Given the description of an element on the screen output the (x, y) to click on. 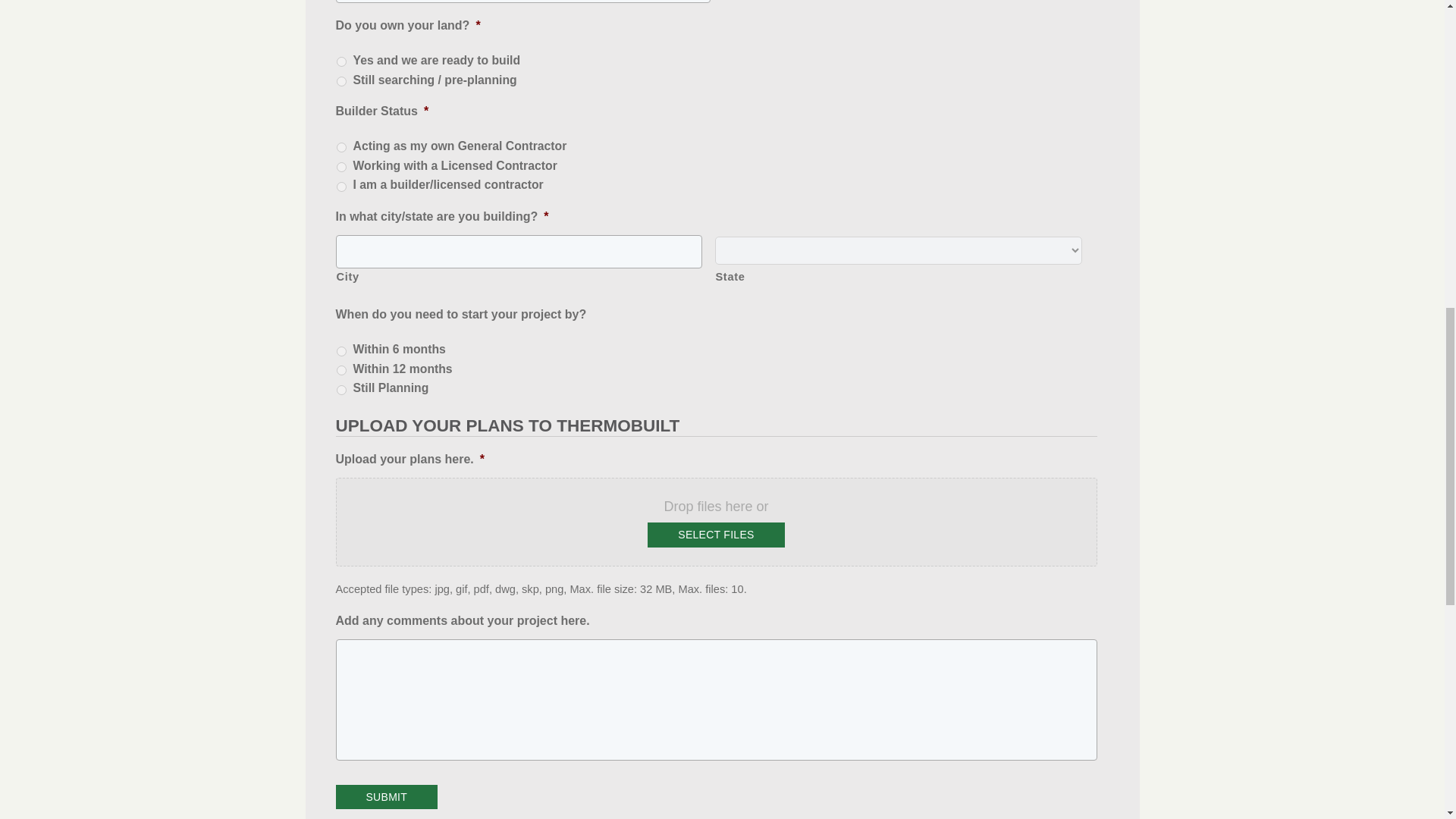
Within 6 months (341, 351)
Yes and we are ready to build (341, 61)
Acting as my own General Contractor (341, 147)
Within 12 months (341, 370)
Submit (386, 796)
Still Planning (341, 389)
Working with a Licensed Contractor (341, 166)
